Given the description of an element on the screen output the (x, y) to click on. 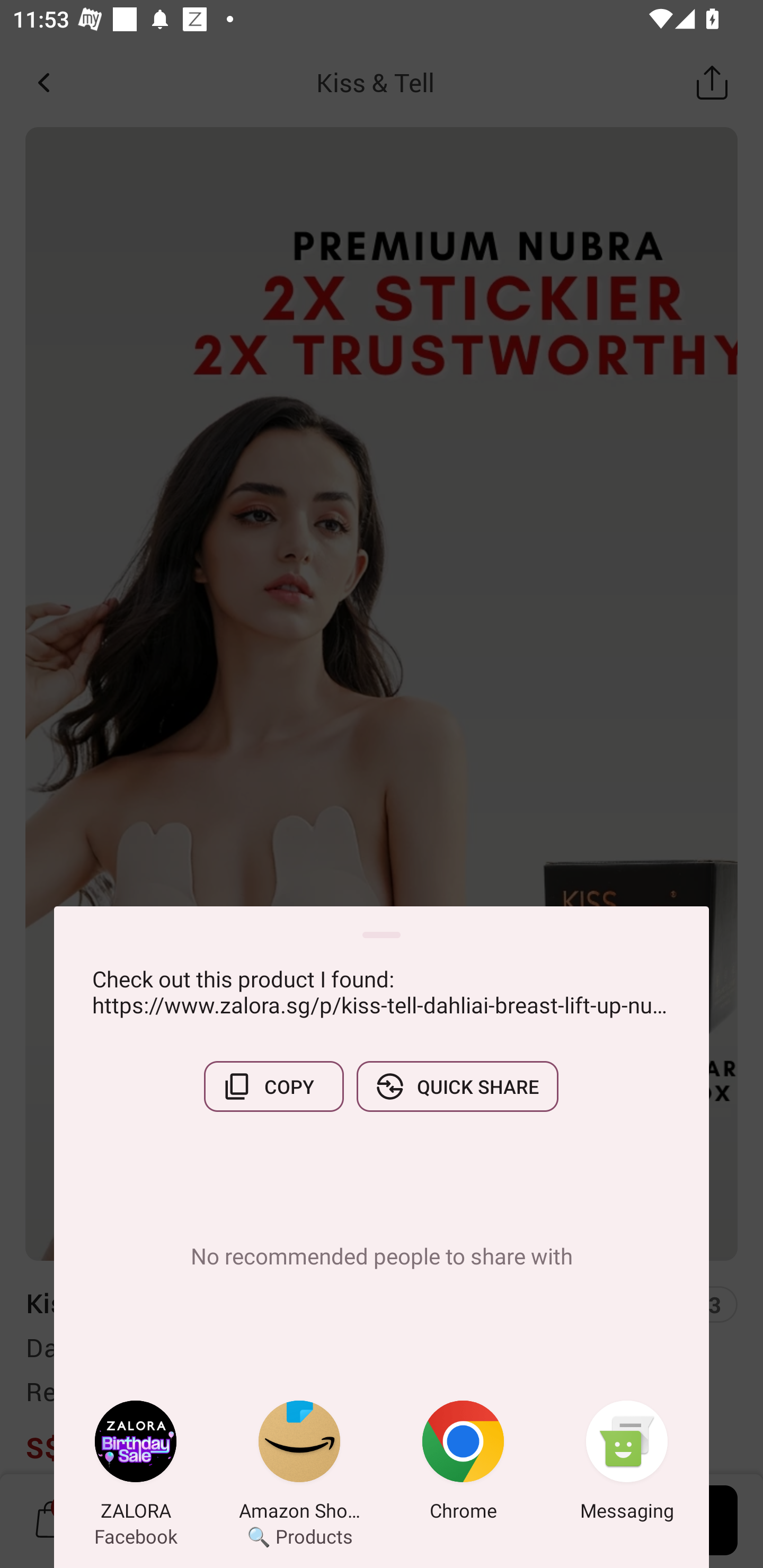
COPY (273, 1086)
QUICK SHARE (457, 1086)
ZALORA Facebook (135, 1463)
Amazon Shopping 🔍 Products (299, 1463)
Chrome (463, 1463)
Messaging (626, 1463)
